Given the description of an element on the screen output the (x, y) to click on. 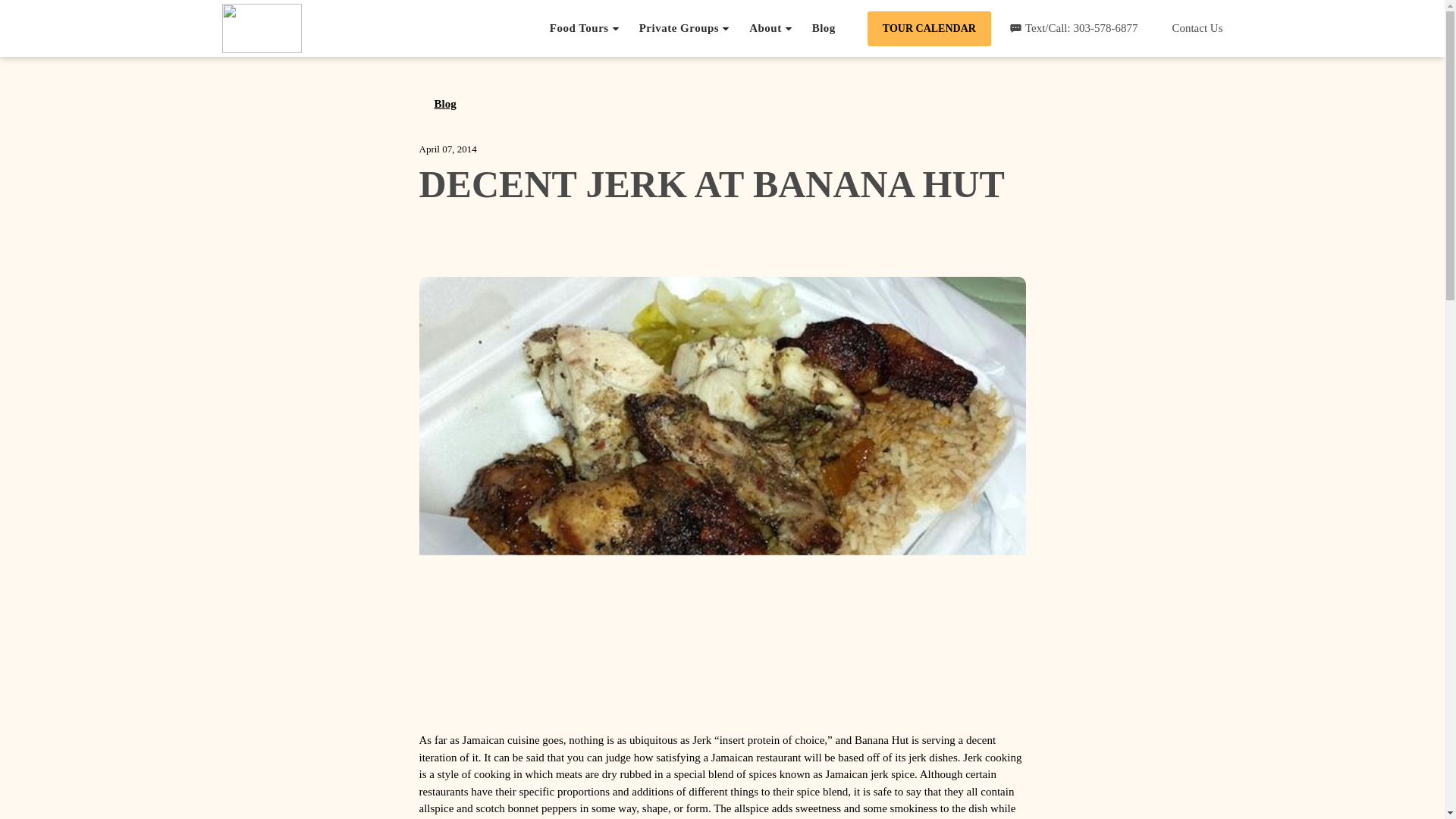
Private Groups (684, 28)
TOUR CALENDAR (929, 27)
Blog (437, 103)
Contact Us (1189, 28)
Food Tours (585, 28)
